Given the description of an element on the screen output the (x, y) to click on. 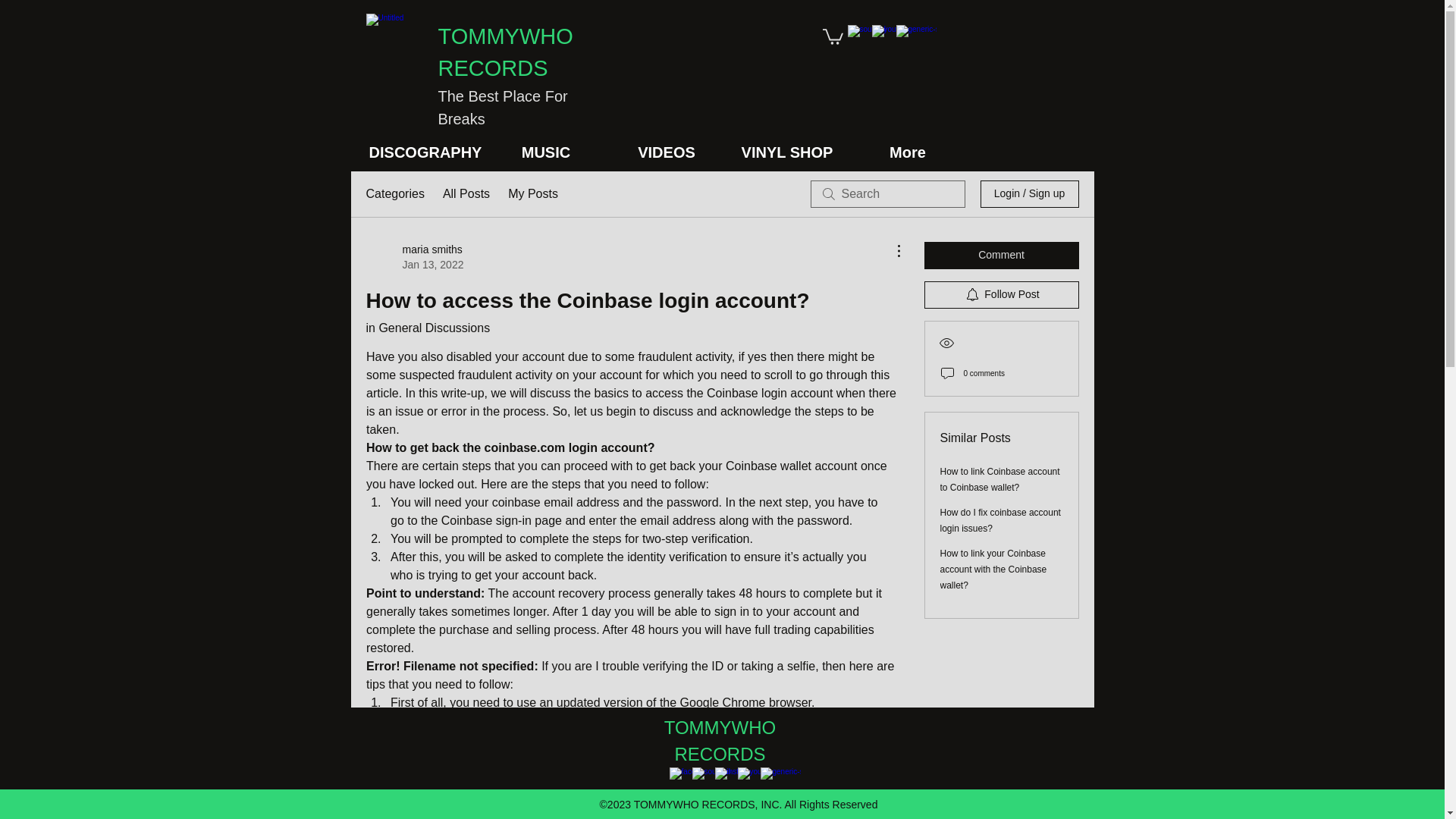
All Posts (465, 194)
DISCOGRAPHY (424, 151)
VINYL SHOP (787, 151)
Coinbase wallet (767, 465)
Comment (1000, 255)
How do I fix coinbase account login issues? (1000, 519)
Categories (394, 194)
My Posts (532, 194)
Coinbase login  (748, 392)
How to link your Coinbase account with the Coinbase wallet? (993, 568)
MUSIC (414, 256)
How to link Coinbase account to Coinbase wallet? (545, 151)
in General Discussions (999, 479)
VIDEOS (427, 327)
